Given the description of an element on the screen output the (x, y) to click on. 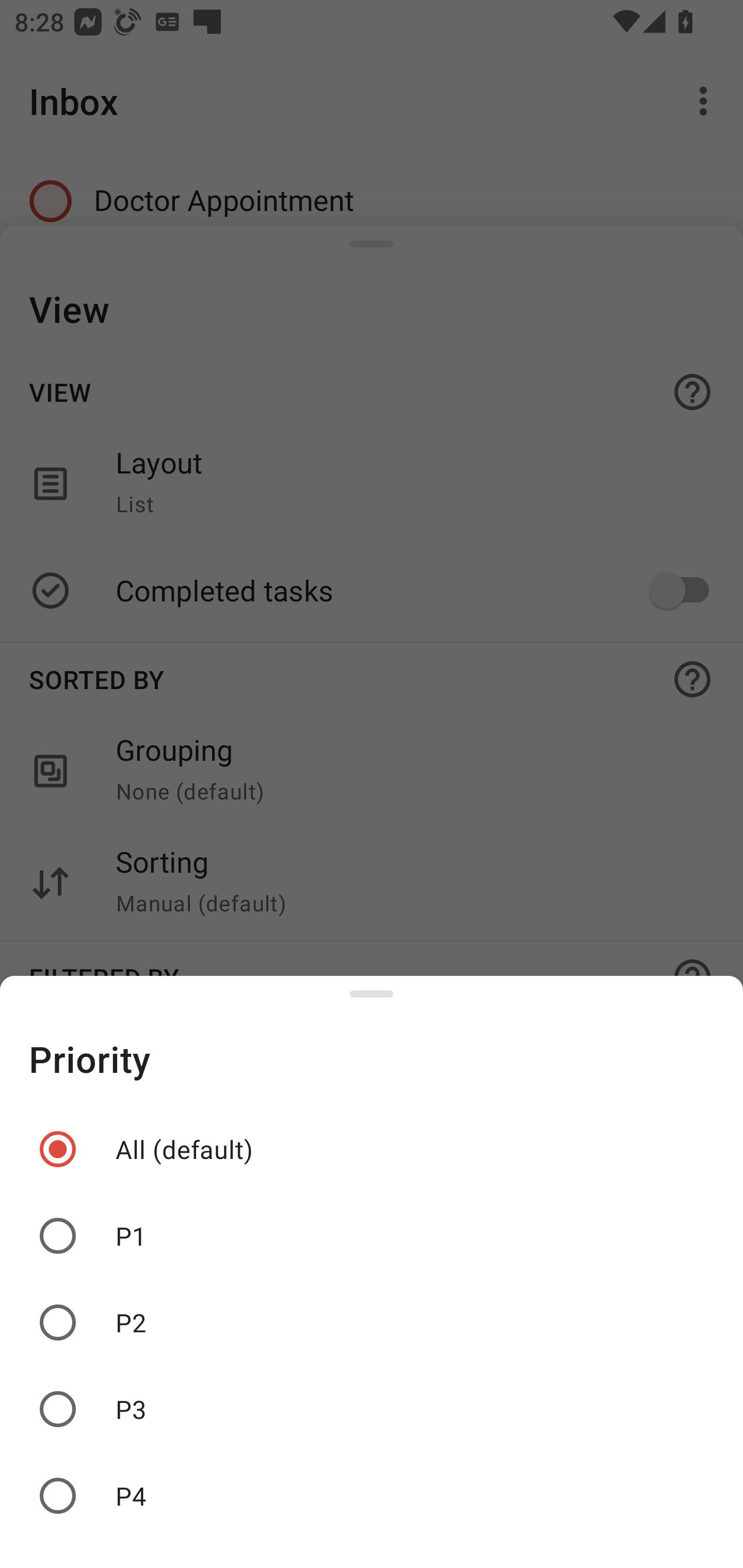
All (default) (371, 1149)
P1 (371, 1236)
P2 (371, 1322)
P3 (371, 1408)
P4 (371, 1495)
